Given the description of an element on the screen output the (x, y) to click on. 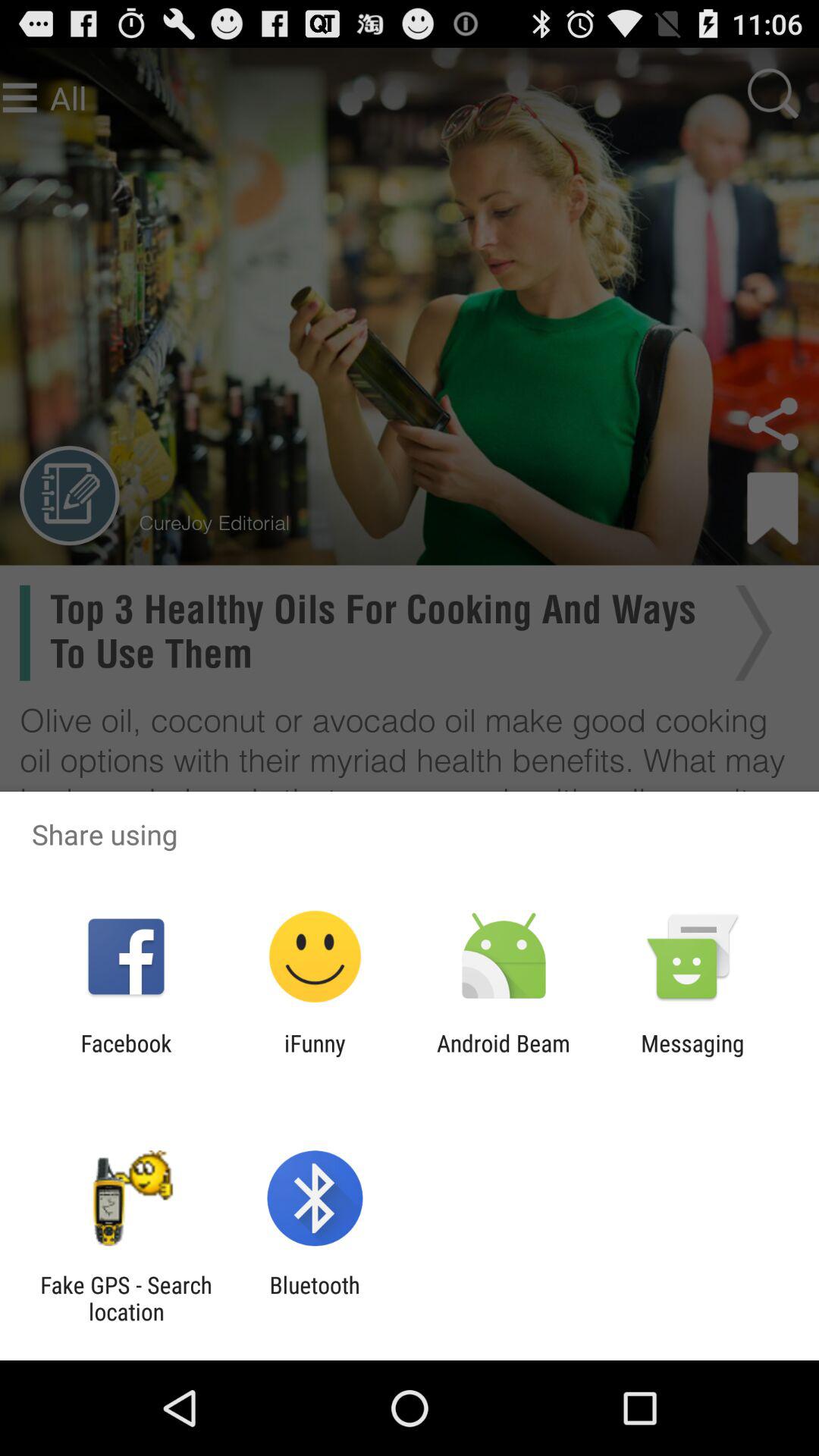
choose the item to the left of the ifunny icon (125, 1056)
